Given the description of an element on the screen output the (x, y) to click on. 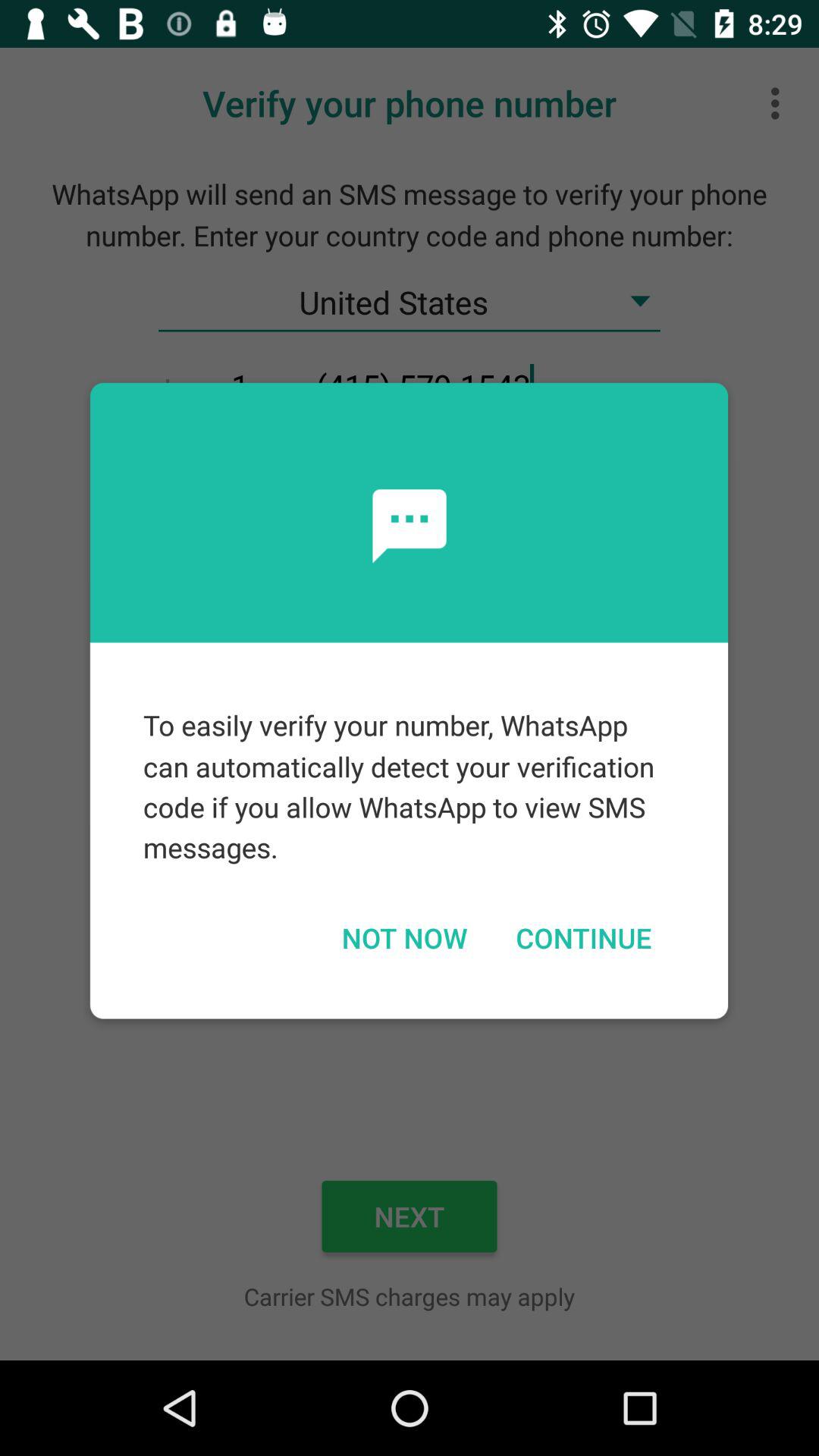
swipe to not now item (403, 937)
